Given the description of an element on the screen output the (x, y) to click on. 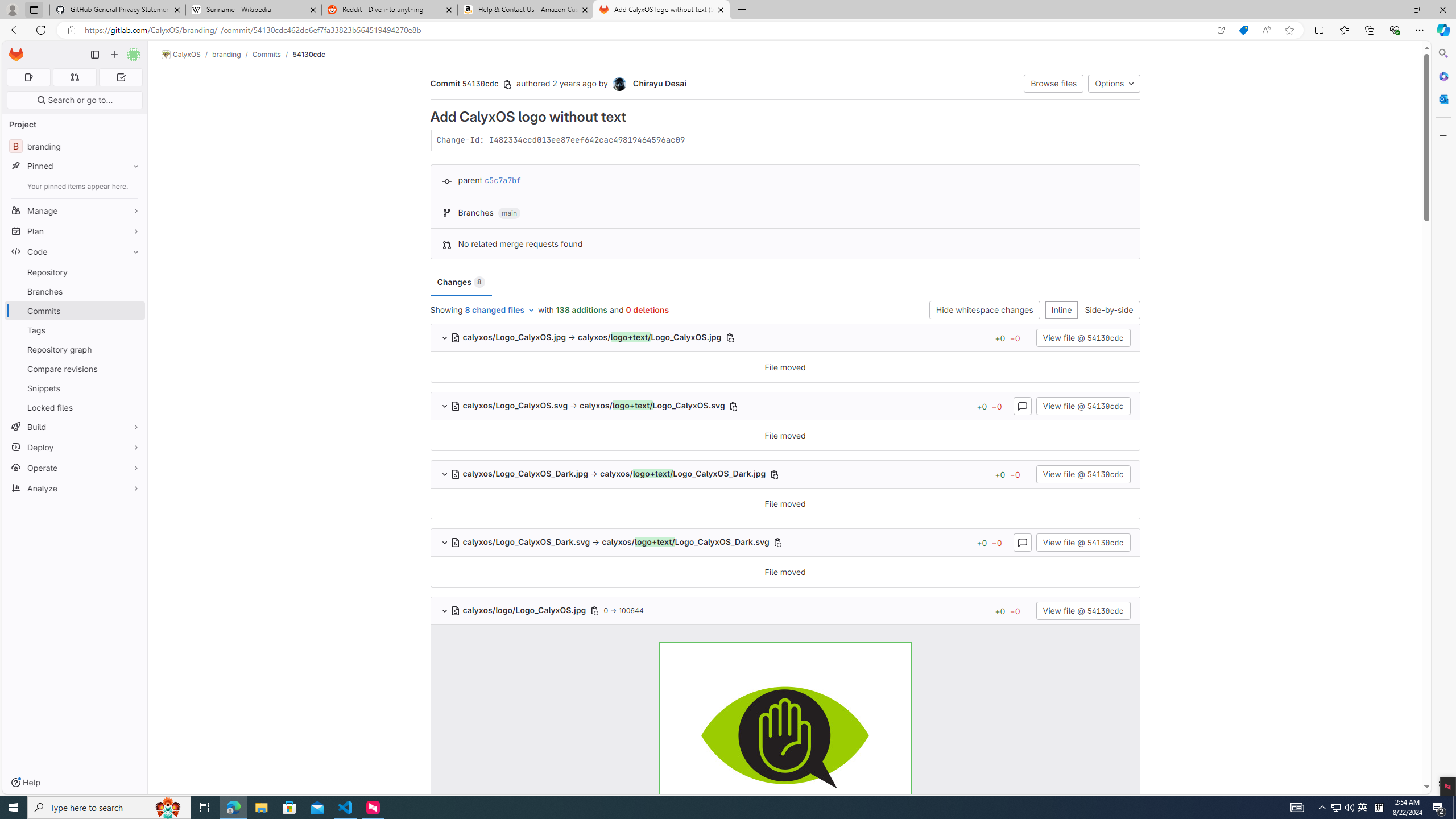
Open in app (1220, 29)
CalyxOS (180, 54)
Assigned issues 0 (28, 76)
Operate (74, 467)
Class: s16 (455, 610)
Snippets (74, 387)
Chirayu Desai's avatar (620, 83)
Snippets (74, 387)
Pin Snippets (132, 387)
Copy file path (594, 611)
